Given the description of an element on the screen output the (x, y) to click on. 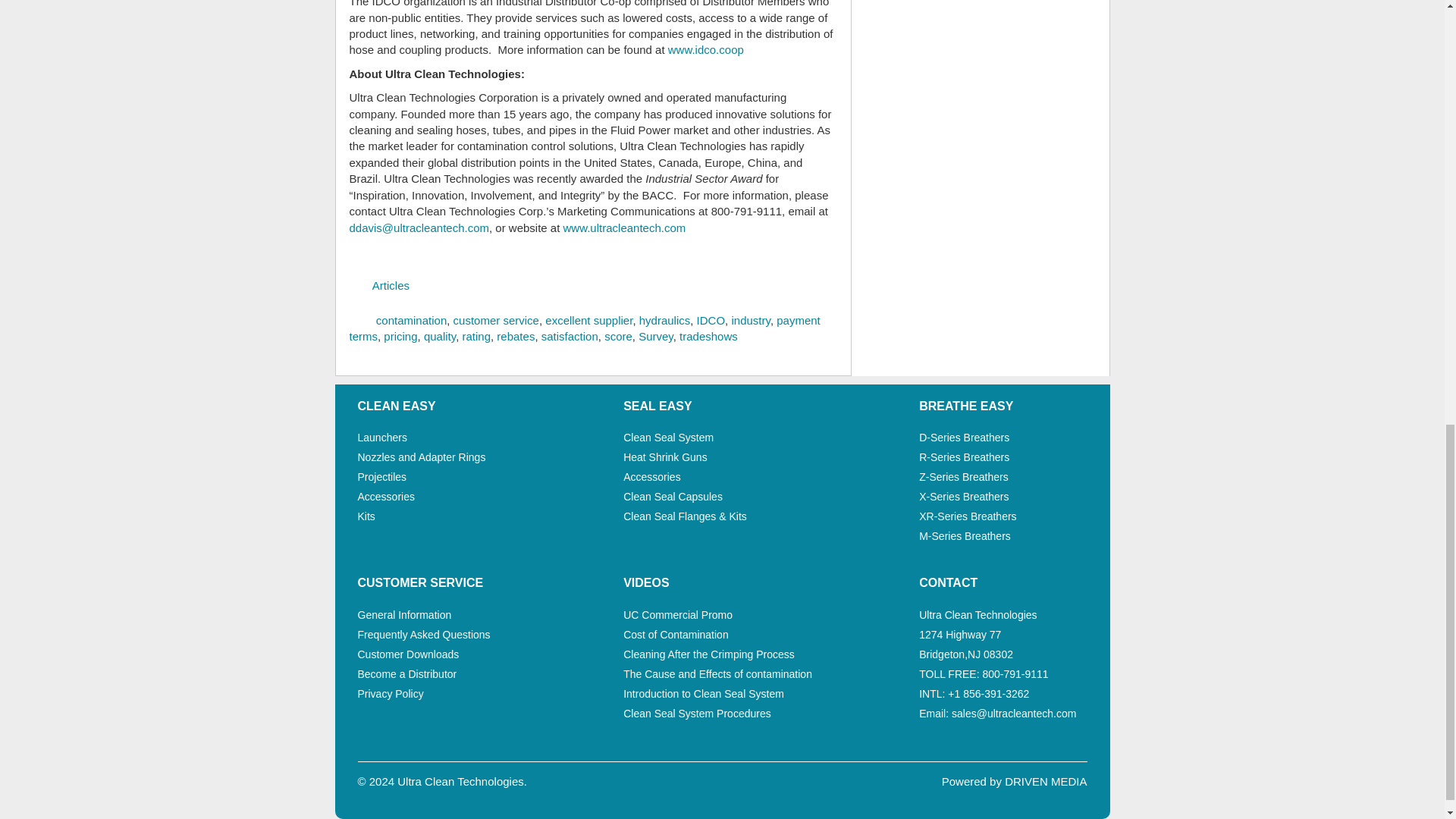
Posted in (359, 282)
Tagged (359, 317)
